Given the description of an element on the screen output the (x, y) to click on. 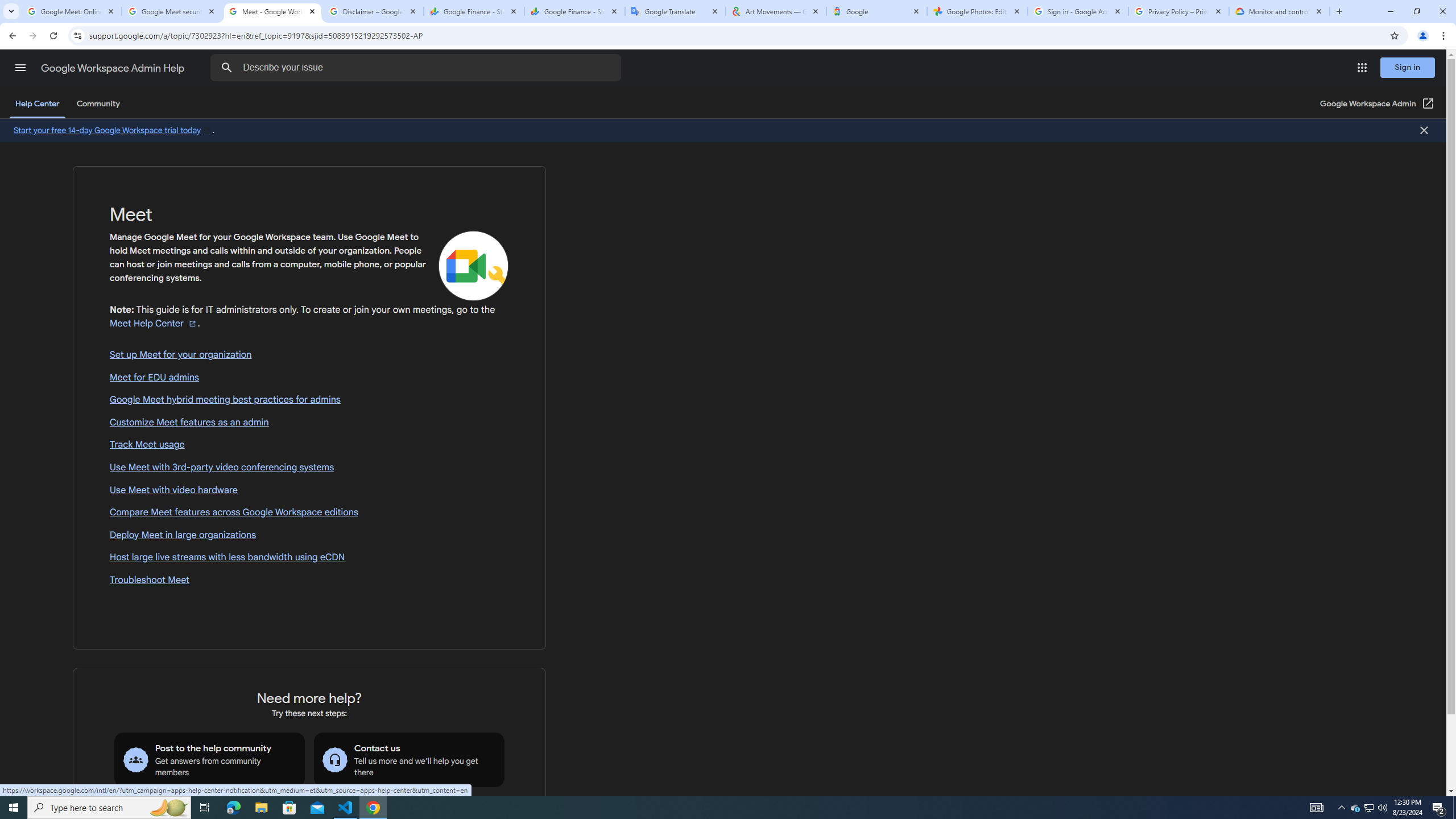
Describe your issue (417, 67)
Host large live streams with less bandwidth using eCDN (309, 557)
Google (876, 11)
Meet - Google Workspace Admin Help (271, 11)
